Given the description of an element on the screen output the (x, y) to click on. 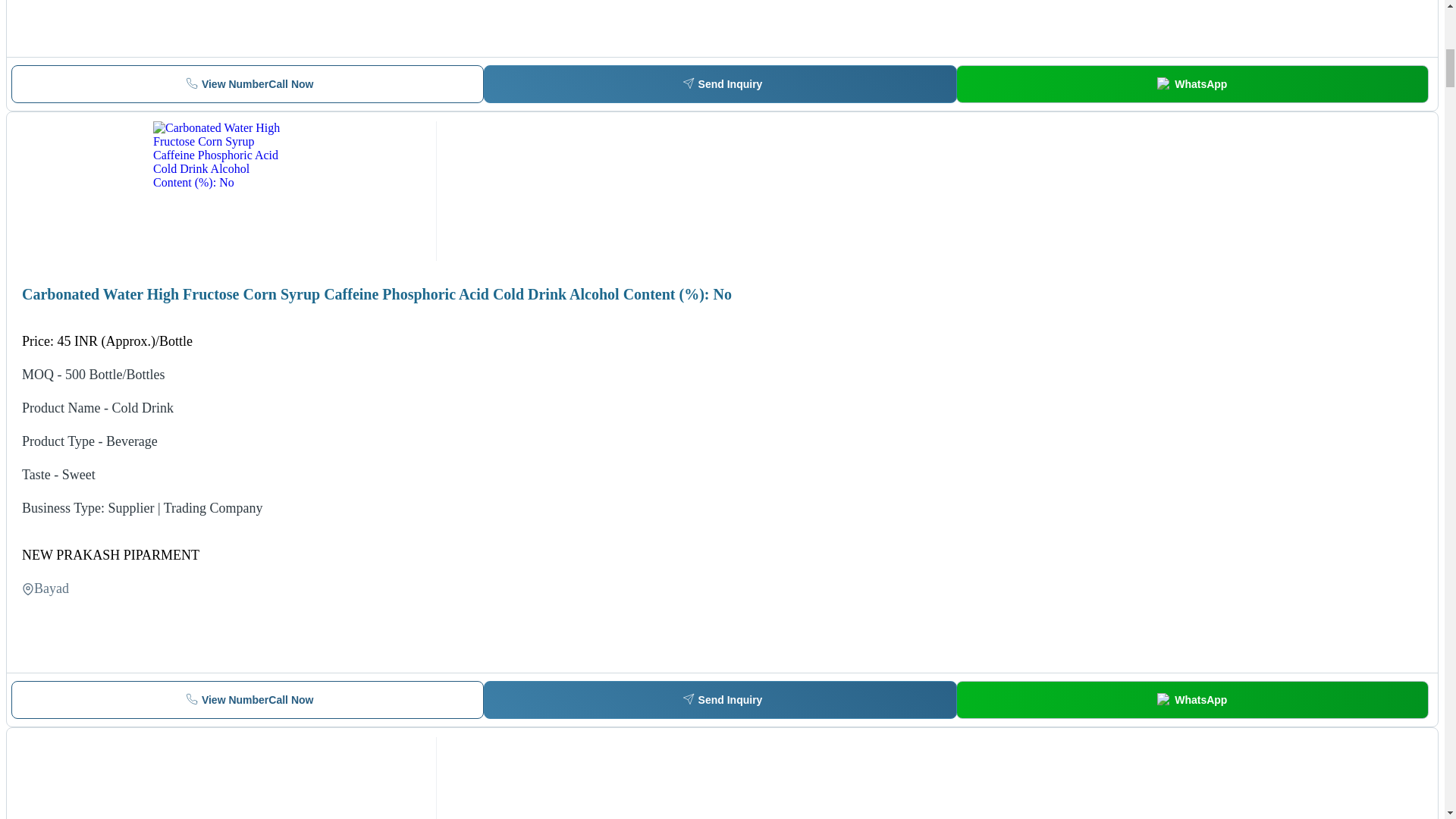
NEW PRAKASH PIPARMENT (110, 554)
Send Inquiry (719, 699)
WhatsApp (247, 699)
Send Inquiry (247, 84)
WhatsApp (1192, 699)
